Given the description of an element on the screen output the (x, y) to click on. 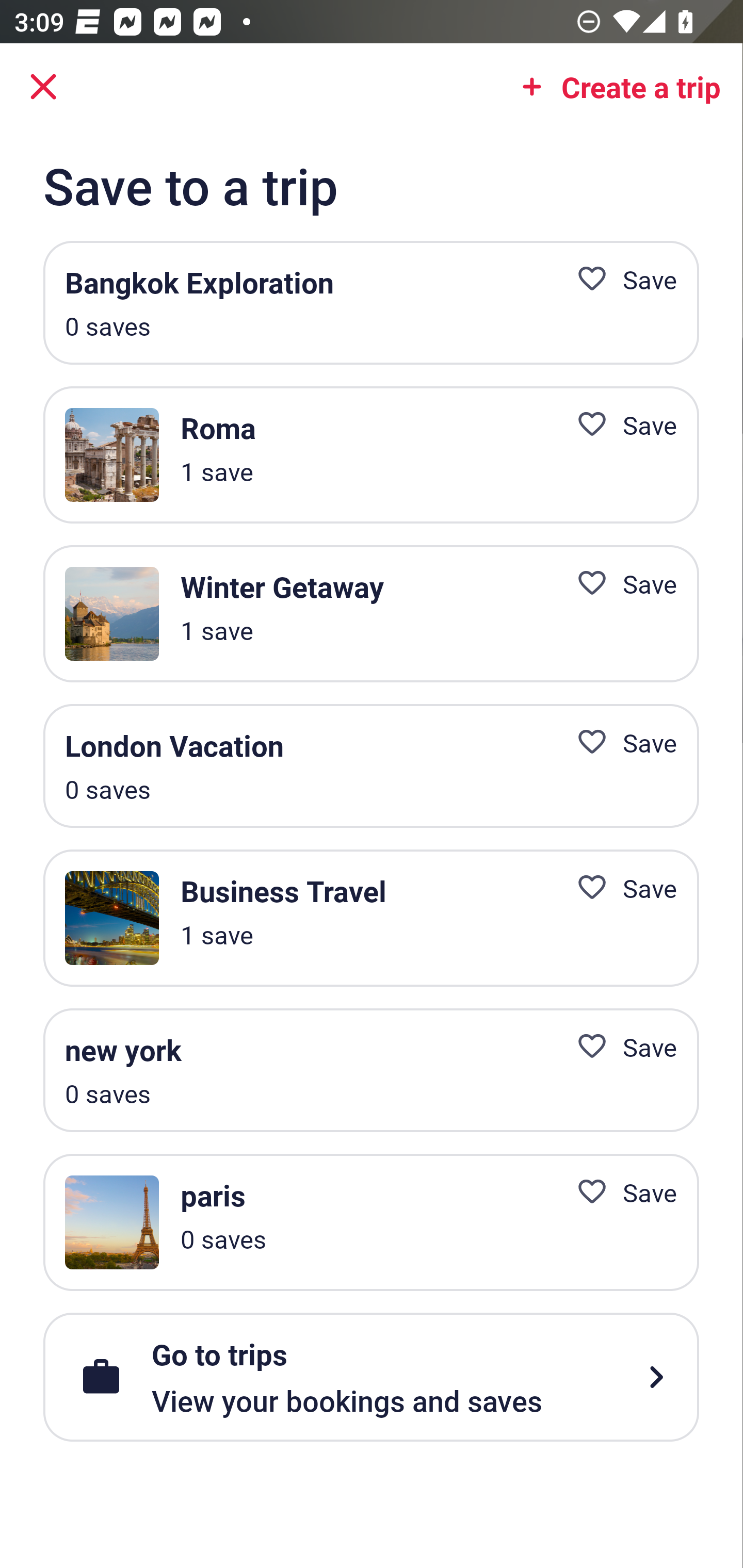
Close (43, 86)
Add Icon Create a trip (615, 86)
Favorite Icon Save (619, 279)
Bangkok Exploration 0 saves Favorite Icon Save (371, 303)
Favorite Icon Save (619, 424)
Favorite Icon Save (619, 583)
Favorite Icon Save (619, 742)
London Vacation 0 saves Favorite Icon Save (371, 765)
Favorite Icon Save (619, 888)
Favorite Icon Save (619, 1046)
new york 0 saves Favorite Icon Save (371, 1070)
Favorite Icon Save (619, 1192)
